Given the description of an element on the screen output the (x, y) to click on. 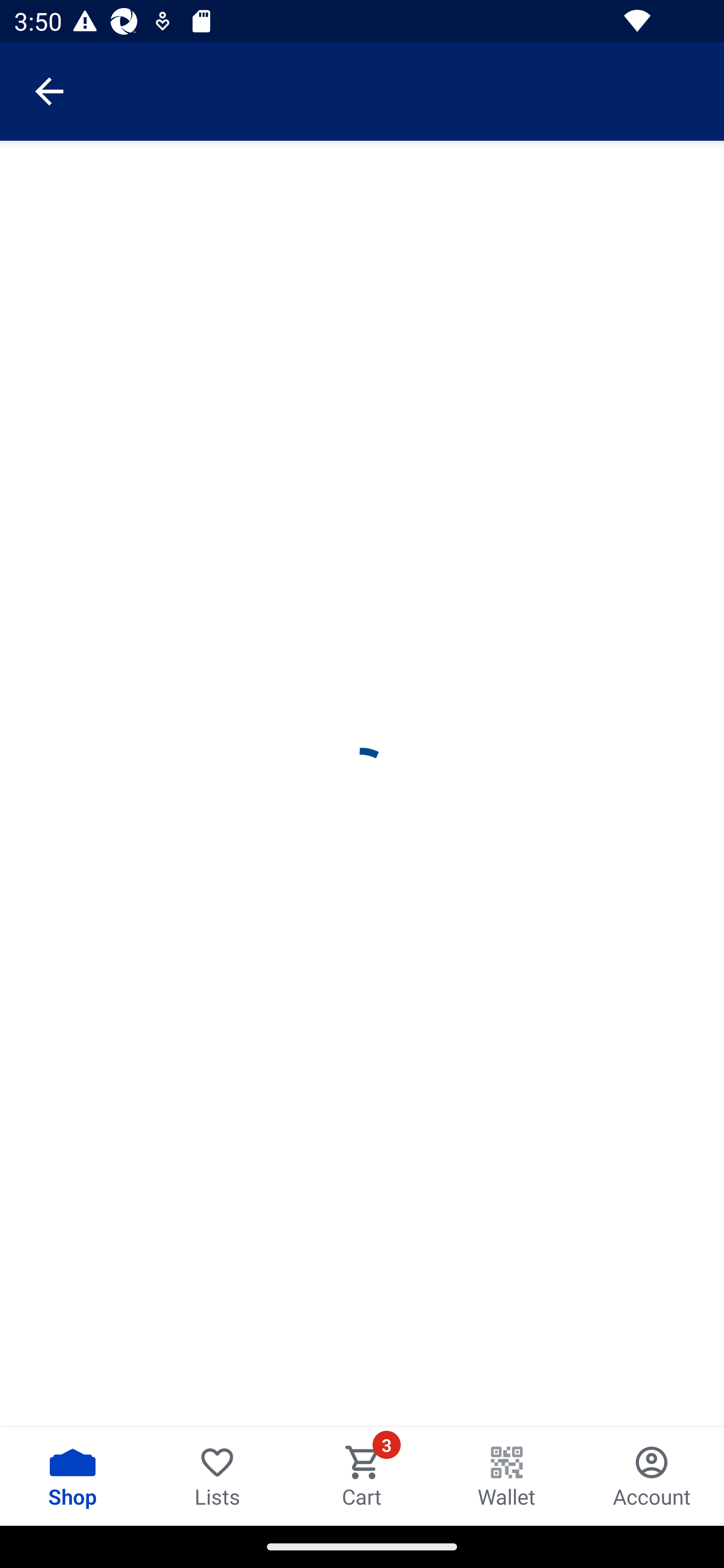
Navigate up (49, 91)
Lists (216, 1475)
Cart Cart 3 (361, 1475)
Wallet (506, 1475)
Account (651, 1475)
